Given the description of an element on the screen output the (x, y) to click on. 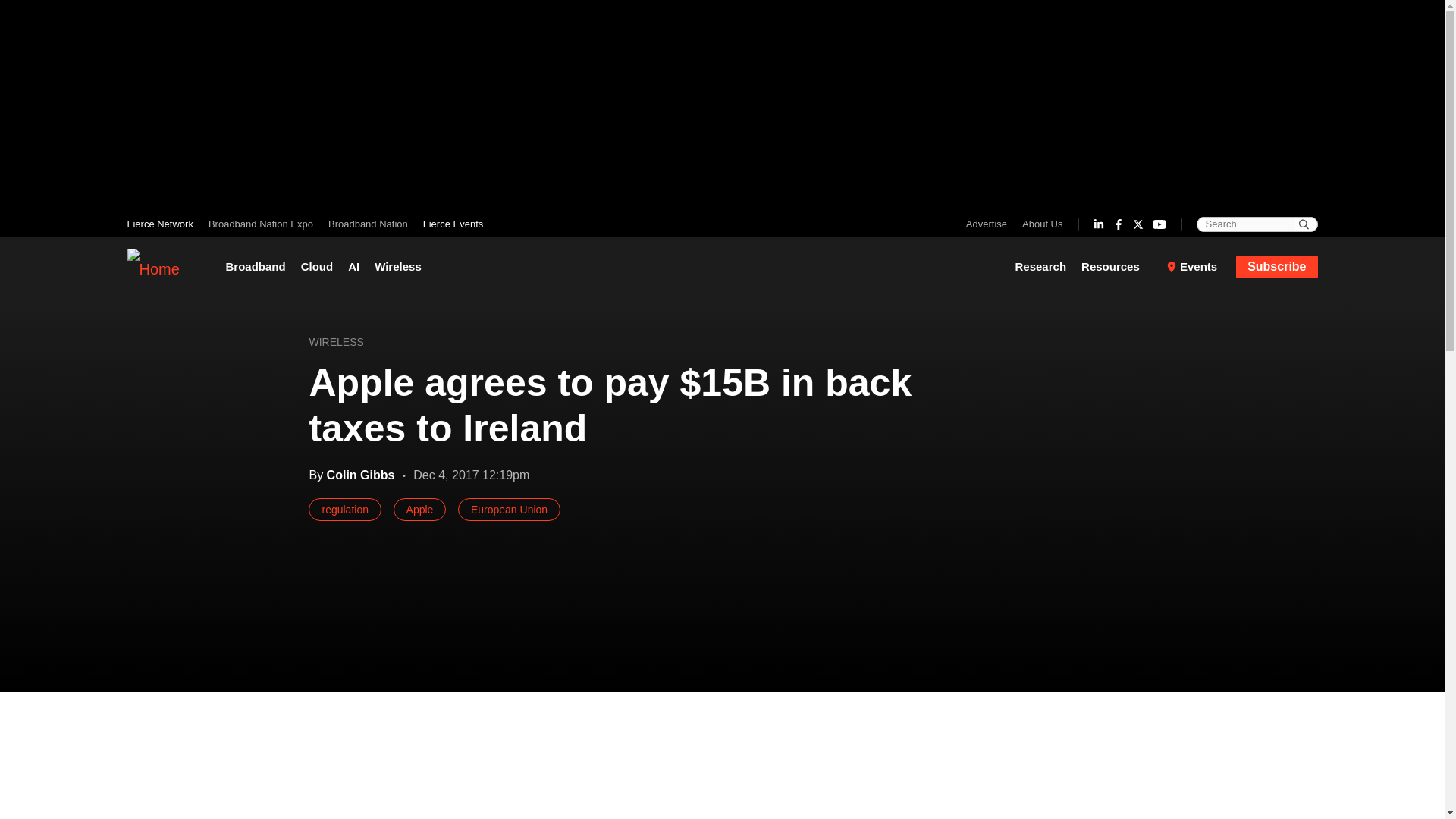
Cloud (317, 266)
Fierce Events (448, 224)
Broadband (259, 266)
Broadband Nation (367, 224)
Advertise (990, 224)
Resources (1116, 266)
Wireless (397, 266)
Fierce Network (164, 224)
Broadband Nation Expo (260, 224)
About Us (1038, 224)
